Given the description of an element on the screen output the (x, y) to click on. 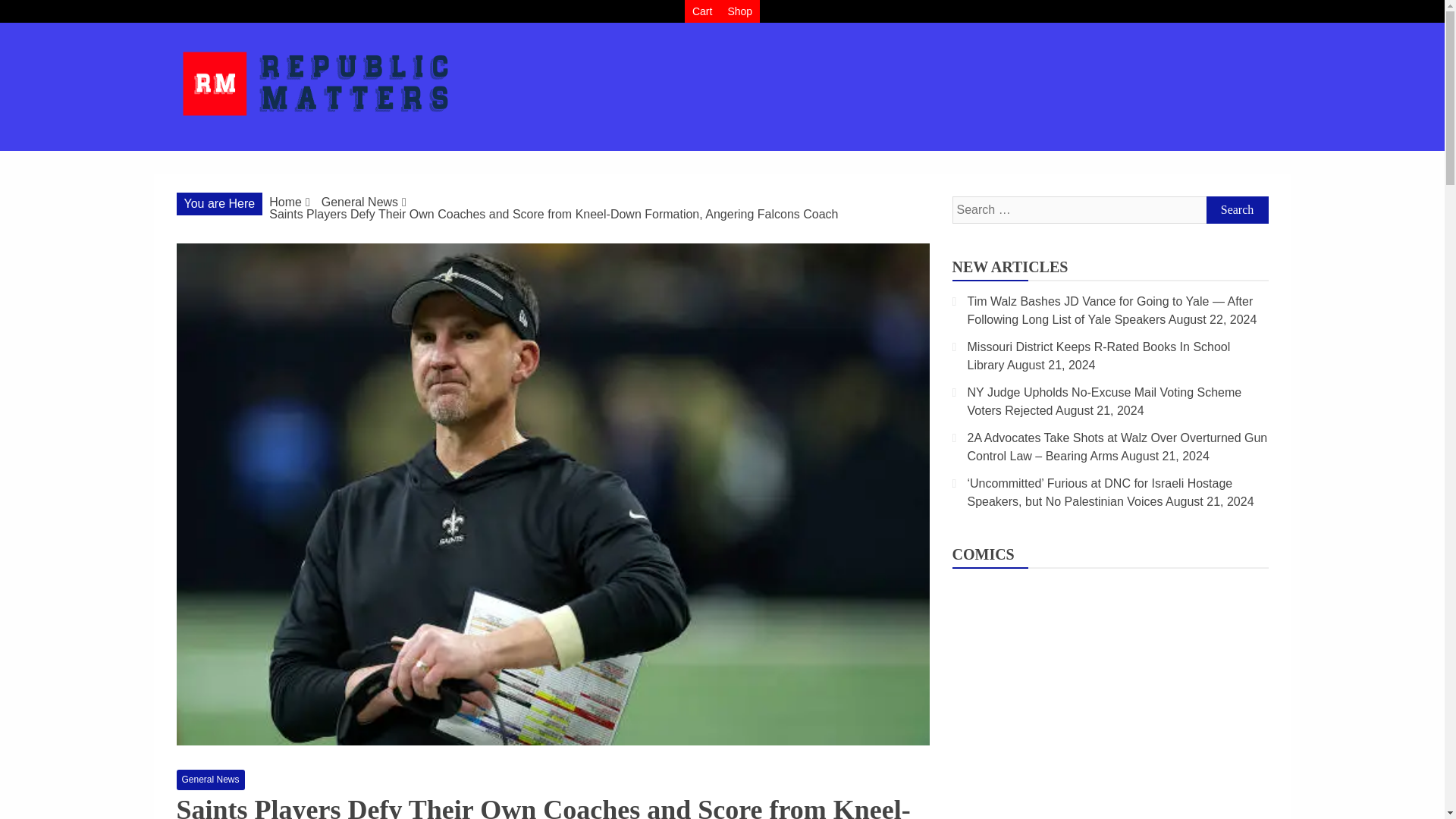
REPUBLIC MATTERS (340, 149)
Home (285, 201)
Search (1236, 209)
Shop (739, 11)
Cart (701, 11)
General News (359, 201)
General News (210, 779)
Search (1236, 209)
